Given the description of an element on the screen output the (x, y) to click on. 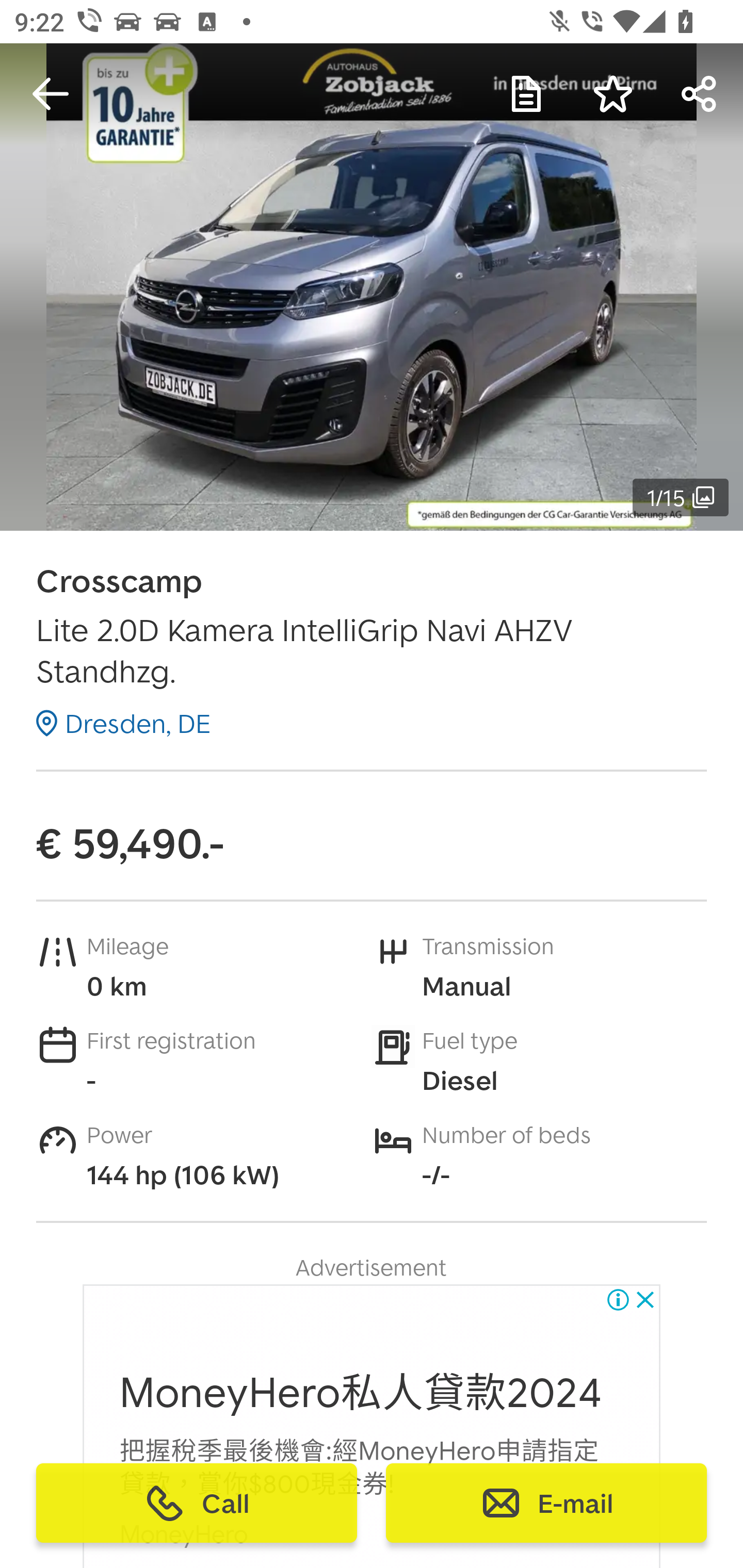
Navigate up (50, 93)
My Notes (525, 93)
Save (612, 93)
Forward (699, 93)
Dresden, DE (123, 722)
MoneyHero私人貸款2024 (361, 1393)
Call (196, 1502)
E-mail (545, 1502)
